Given the description of an element on the screen output the (x, y) to click on. 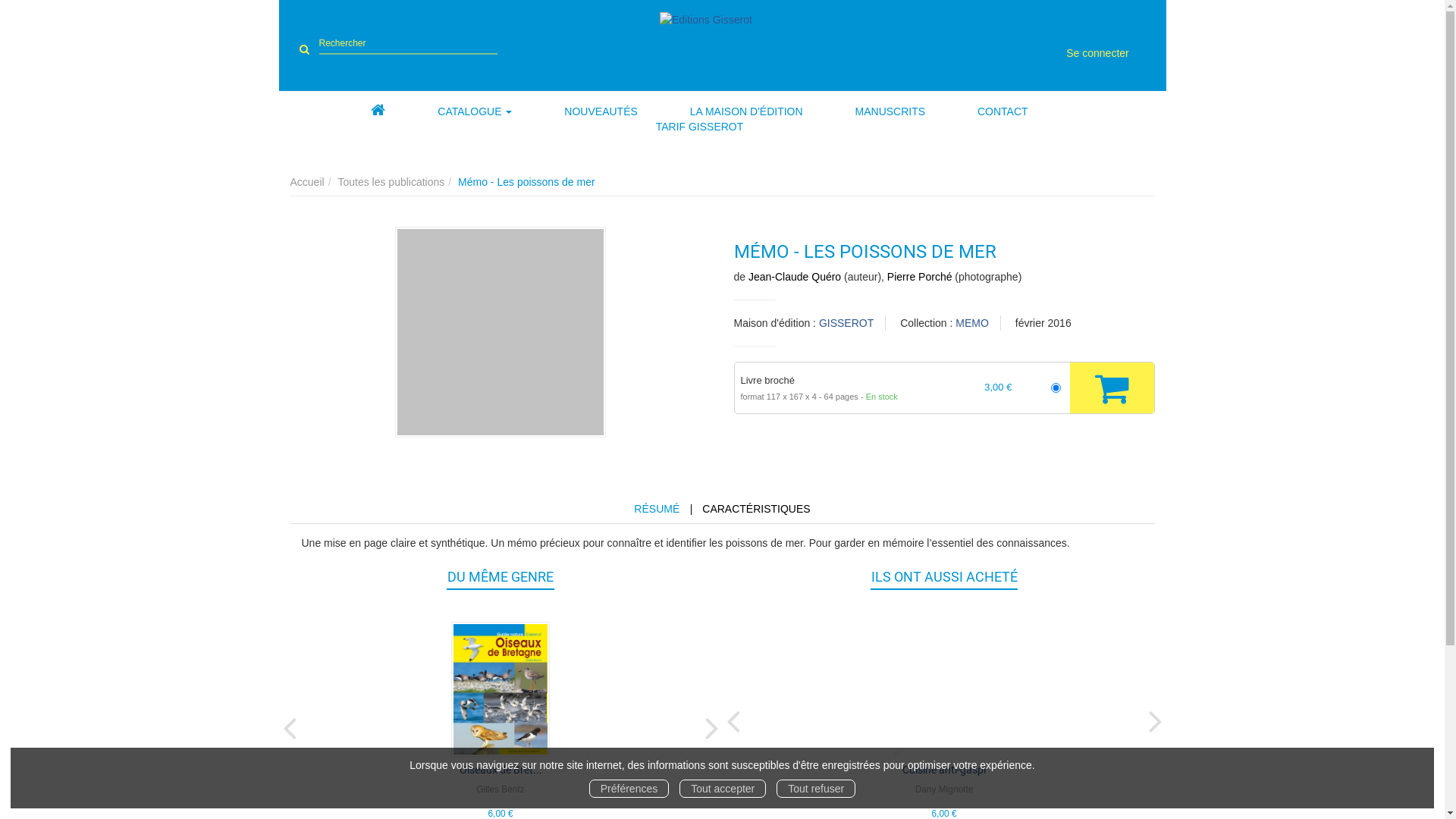
MEMO Element type: text (971, 322)
Gilles Bentz Element type: text (500, 789)
Cuisine anti-gaspi Element type: text (943, 769)
Toutes les publications Element type: text (390, 181)
Tout accepter Element type: text (722, 788)
TARIF GISSEROT Element type: text (699, 126)
Ajouter au panier Element type: hover (1112, 387)
Accueil Element type: text (306, 181)
Oiseaux de Bret... Element type: text (500, 769)
GISSEROT Element type: text (846, 322)
CATALOGUE Element type: text (474, 111)
Dany Mignotte Element type: text (944, 789)
MANUSCRITS Element type: text (890, 111)
Tout refuser Element type: text (815, 788)
CONTACT Element type: text (1002, 111)
Se connecter Element type: text (1097, 53)
